Given the description of an element on the screen output the (x, y) to click on. 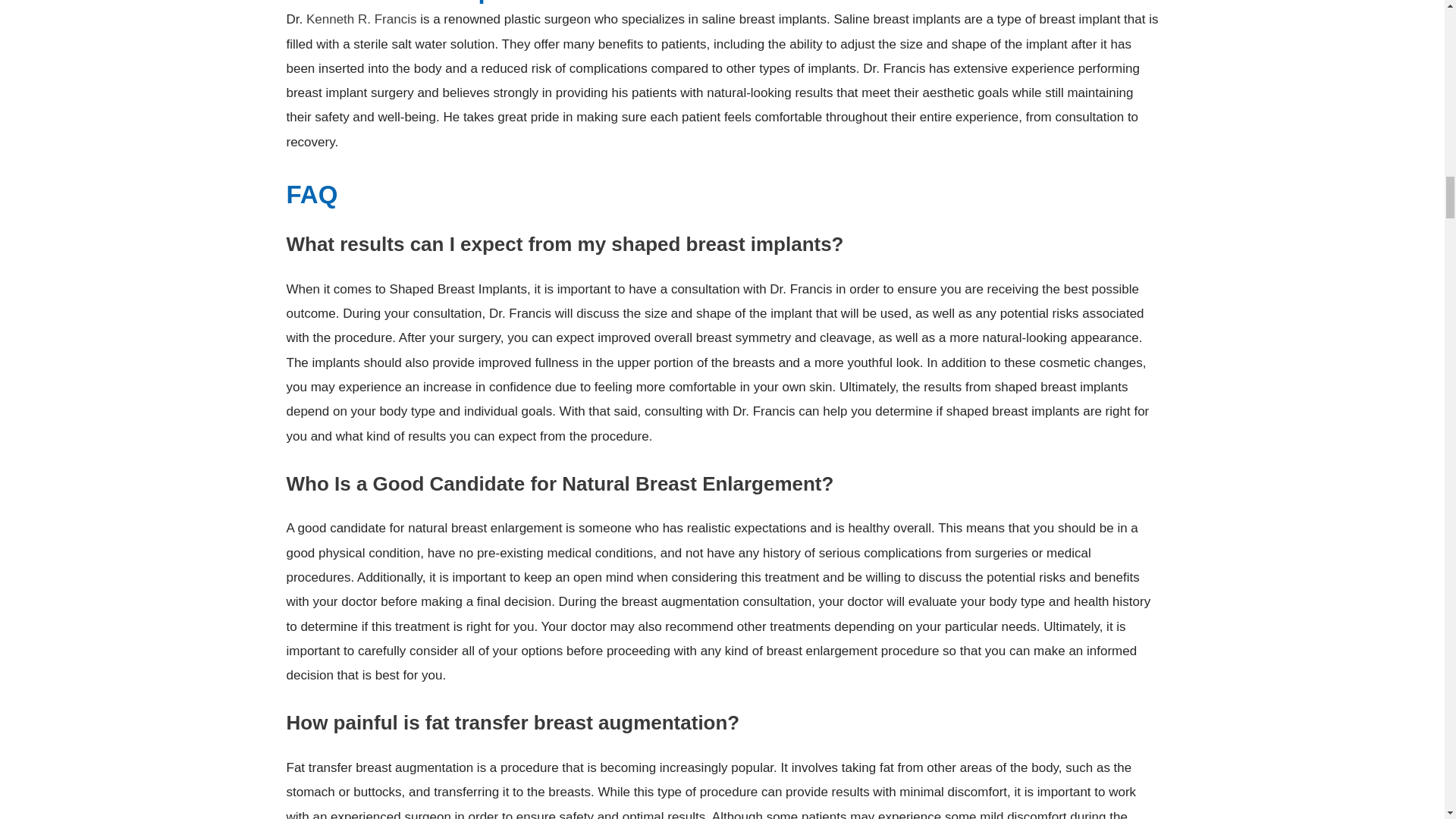
Kenneth R. Francis (360, 19)
